Given the description of an element on the screen output the (x, y) to click on. 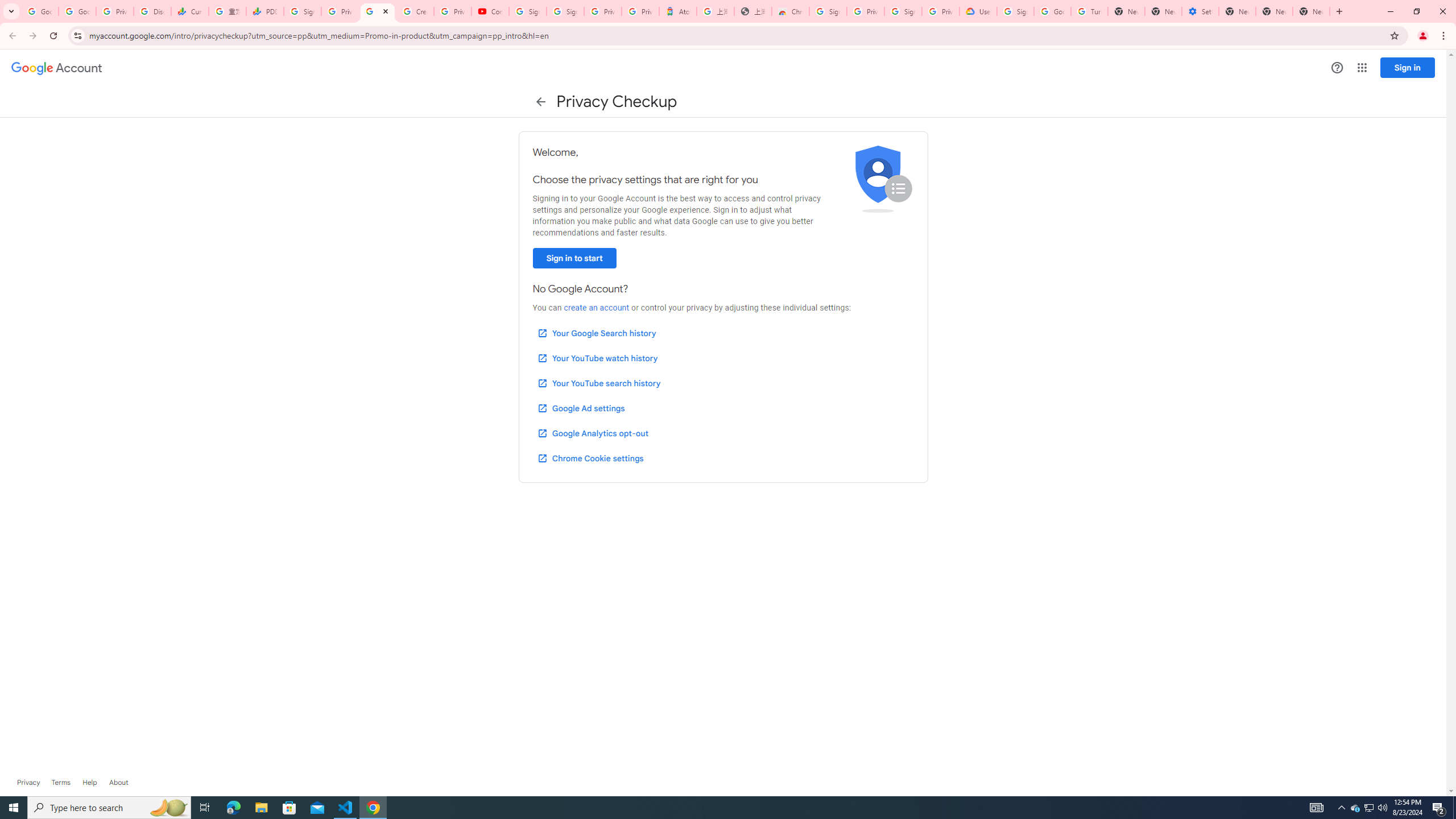
Google Account Help (1052, 11)
Google Analytics opt-out (592, 433)
Google Workspace Admin Community (40, 11)
Privacy Checkup (377, 11)
Sign in to start (573, 258)
Your YouTube search history (598, 383)
Turn cookies on or off - Computer - Google Account Help (1088, 11)
Help (89, 782)
Sign in - Google Accounts (827, 11)
Address and search bar (735, 35)
Sign in - Google Accounts (527, 11)
